Given the description of an element on the screen output the (x, y) to click on. 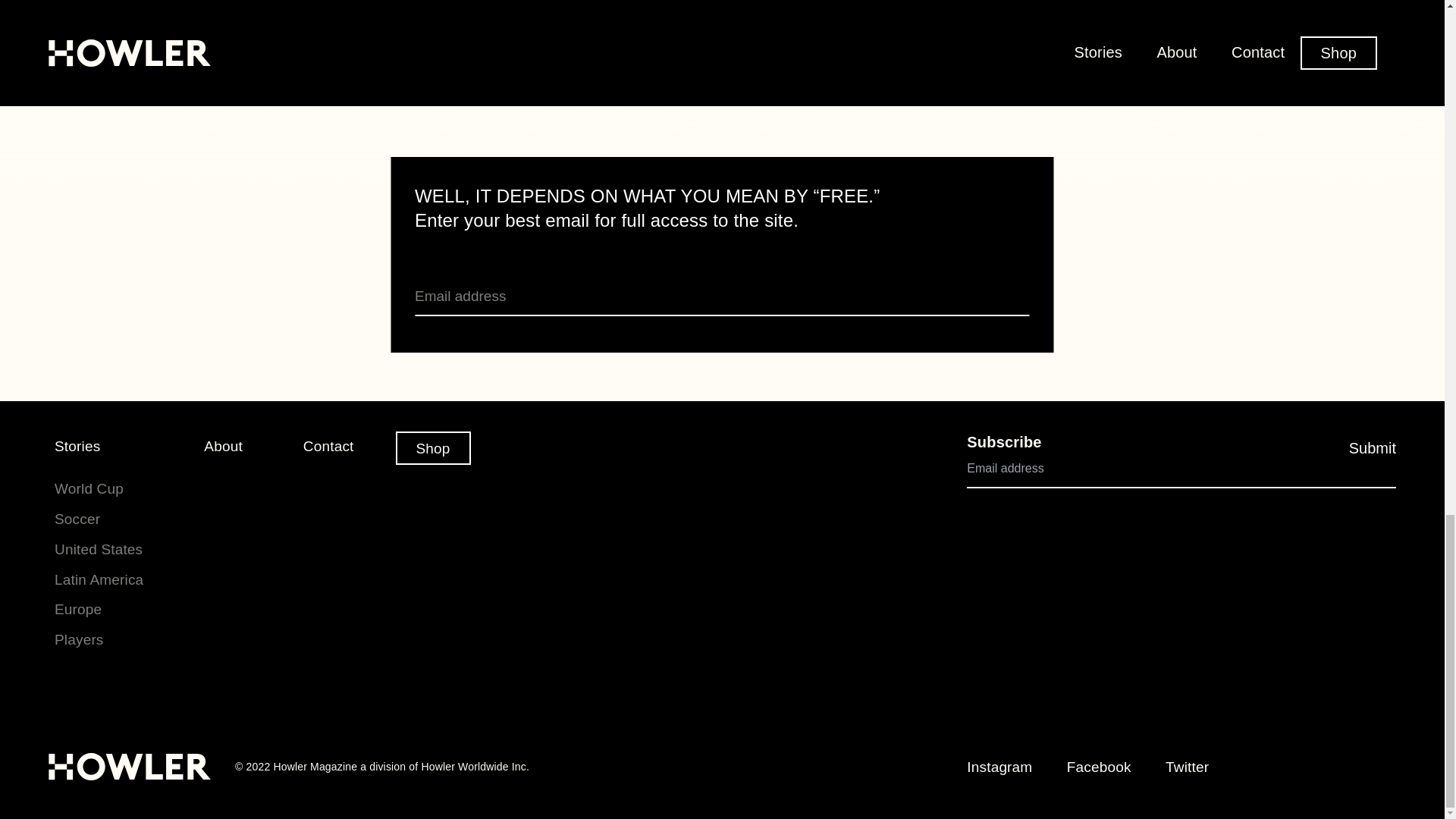
Contact (327, 446)
Europe (78, 609)
About (223, 446)
Latin America (98, 579)
Submit (1017, 322)
Stories (77, 446)
World Cup (89, 488)
United States (98, 549)
Players (79, 639)
Submit (1372, 448)
Soccer (77, 519)
Submit (1017, 322)
